Given the description of an element on the screen output the (x, y) to click on. 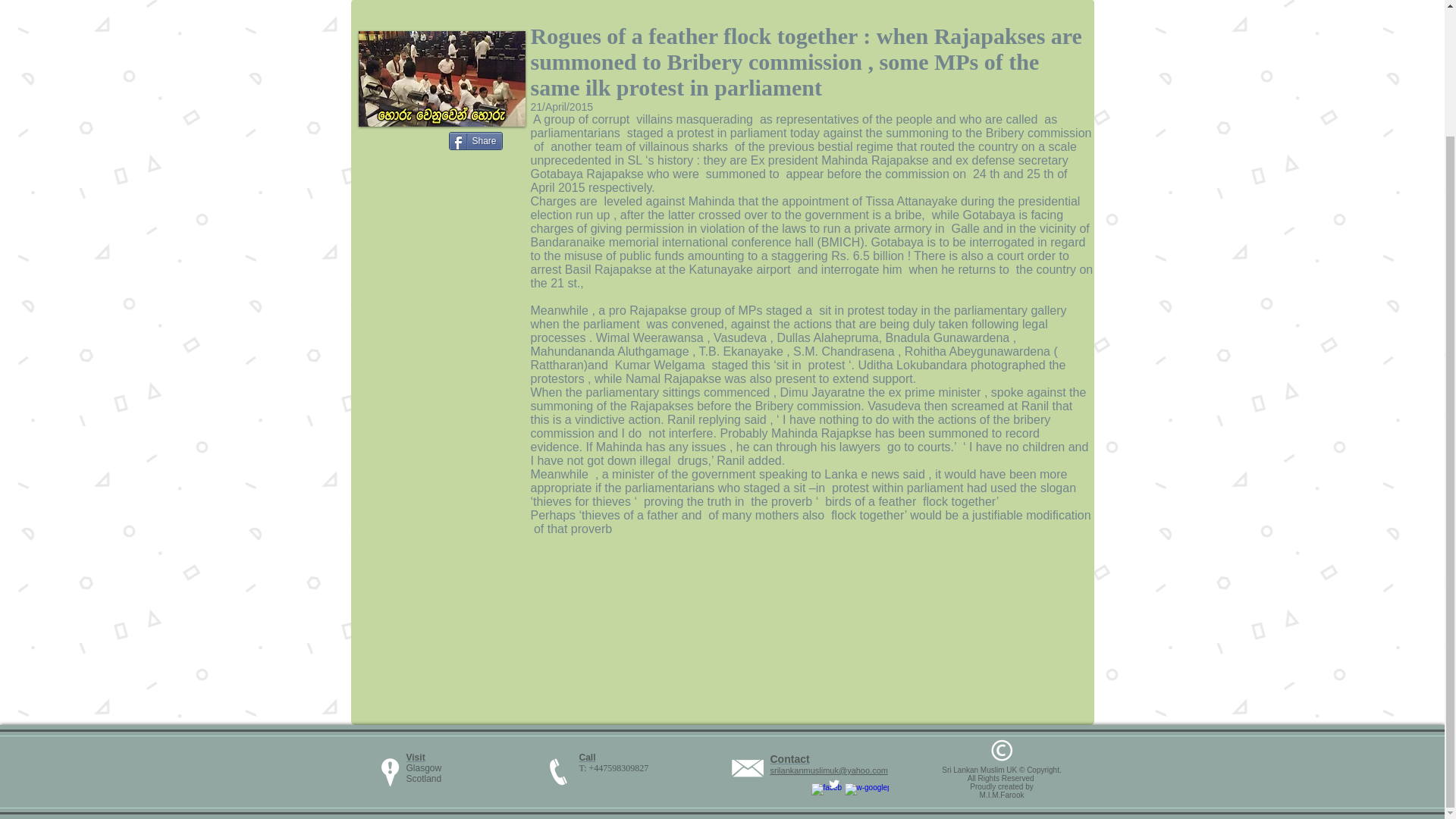
Twitter Tweet (395, 142)
Share (475, 140)
